Given the description of an element on the screen output the (x, y) to click on. 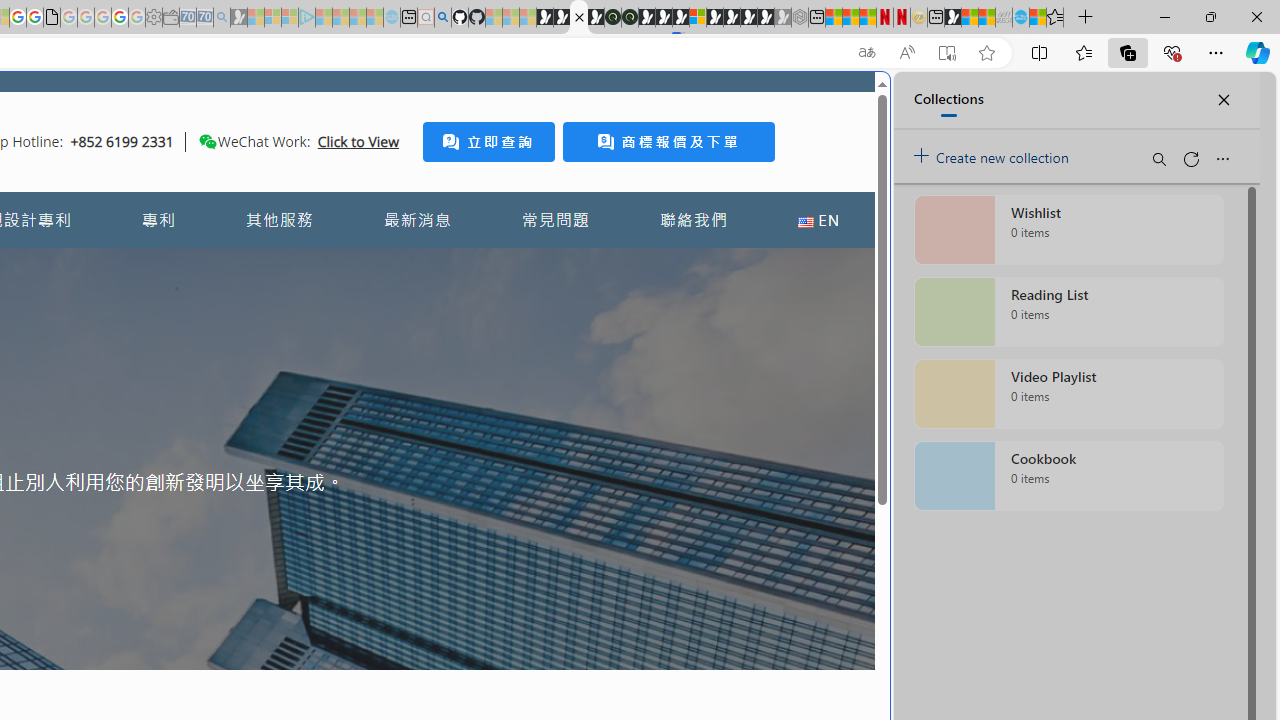
Sign in to your account (697, 17)
Class: desktop (207, 141)
